Given the description of an element on the screen output the (x, y) to click on. 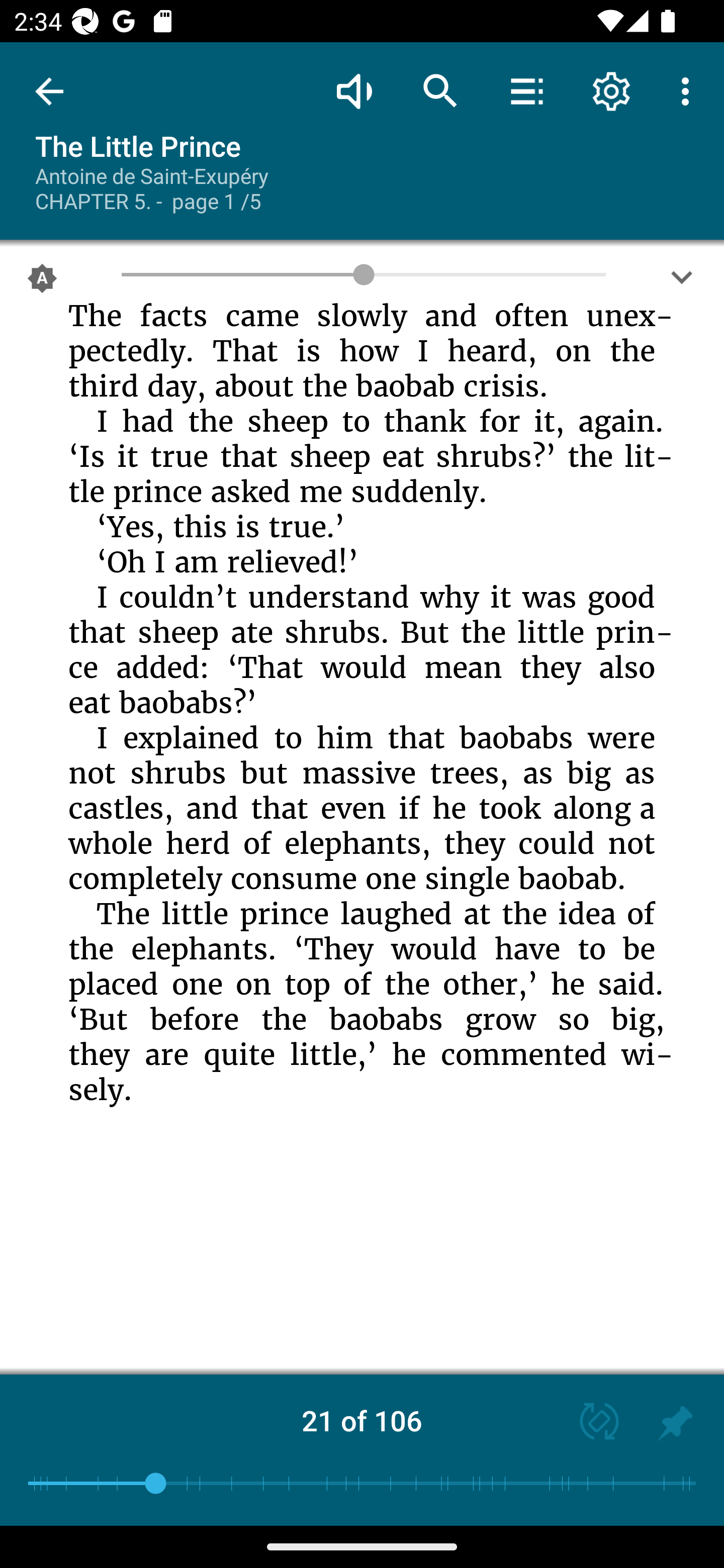
Exit reading (49, 91)
Read aloud (354, 90)
Text search (440, 90)
Contents / Bookmarks / Quotes (526, 90)
Reading settings (611, 90)
More options (688, 90)
Selected screen brightness (42, 281)
Screen brightness settings (681, 281)
21 of 106 (361, 1420)
Screen orientation (590, 1423)
Add to history (674, 1423)
